Given the description of an element on the screen output the (x, y) to click on. 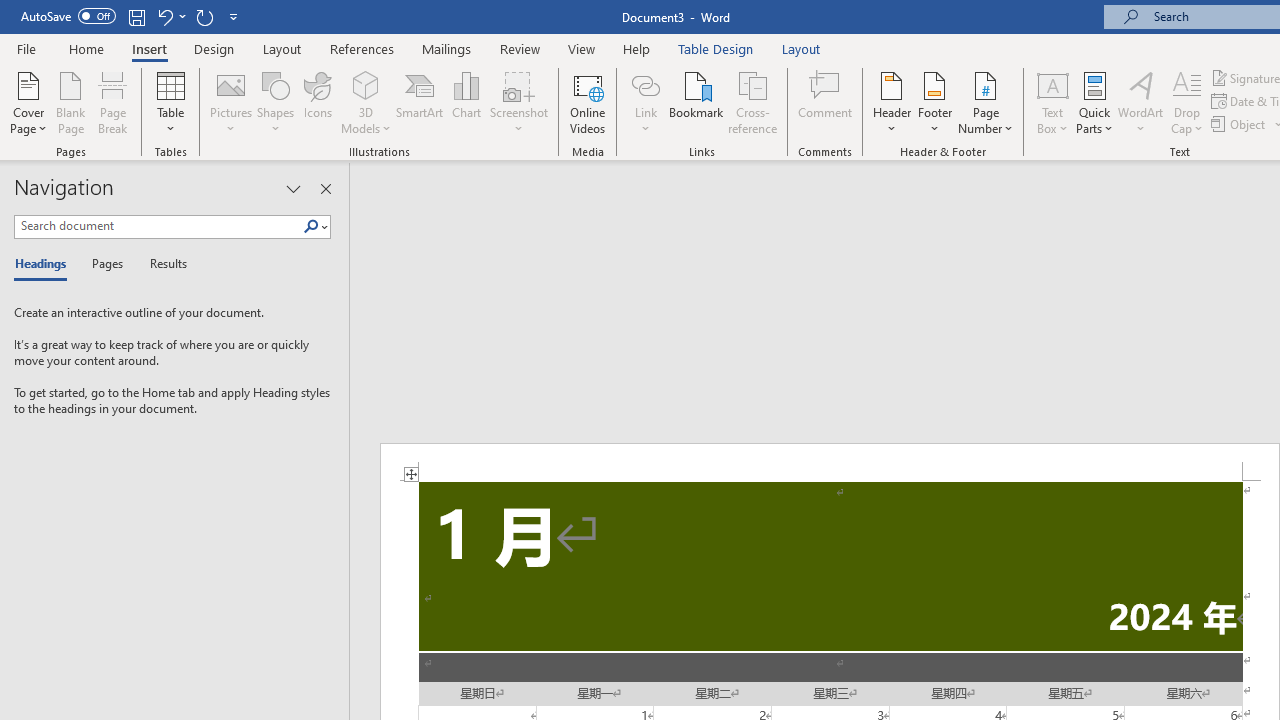
Icons (317, 102)
Comment (825, 102)
Object... (1240, 124)
Online Videos... (588, 102)
Save (136, 15)
Cover Page (28, 102)
3D Models (366, 102)
Bookmark... (695, 102)
Blank Page (70, 102)
Screenshot (518, 102)
References (362, 48)
Pages (105, 264)
Help (637, 48)
